Given the description of an element on the screen output the (x, y) to click on. 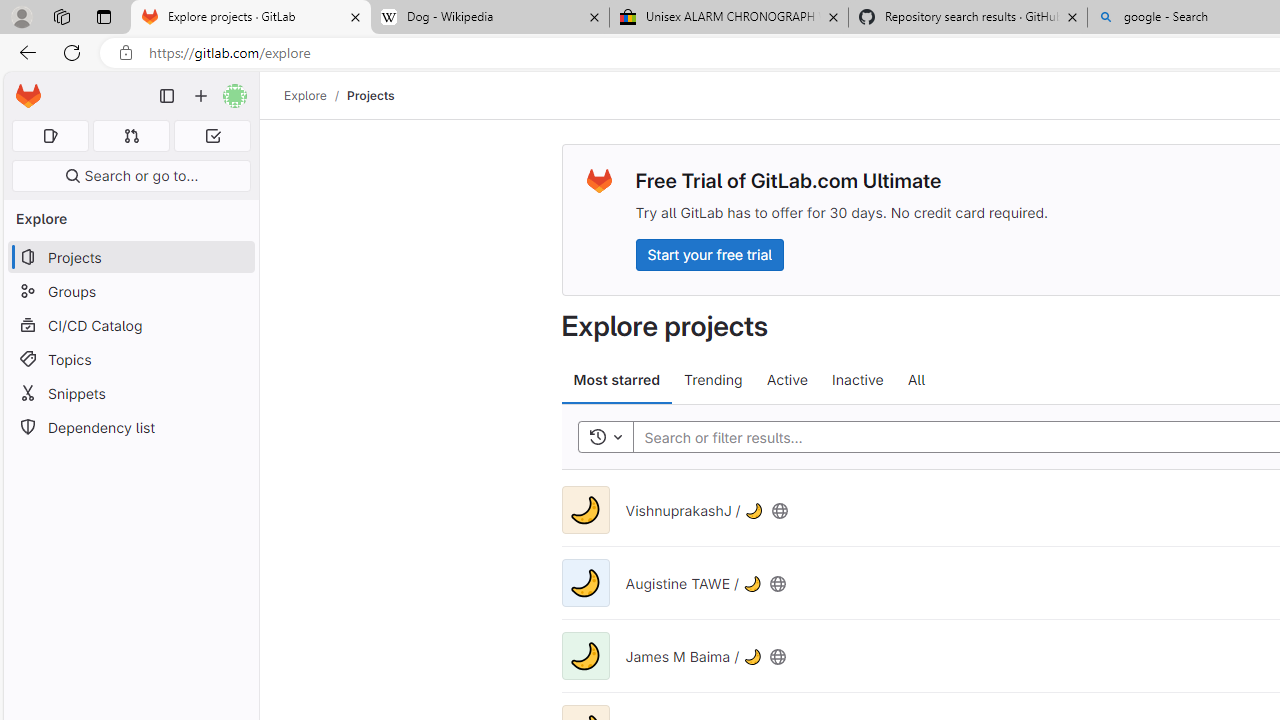
Dependency list (130, 427)
Assigned issues 0 (50, 136)
Trending (713, 379)
Projects (370, 95)
Inactive (858, 379)
Active (786, 379)
Explore (305, 95)
